Given the description of an element on the screen output the (x, y) to click on. 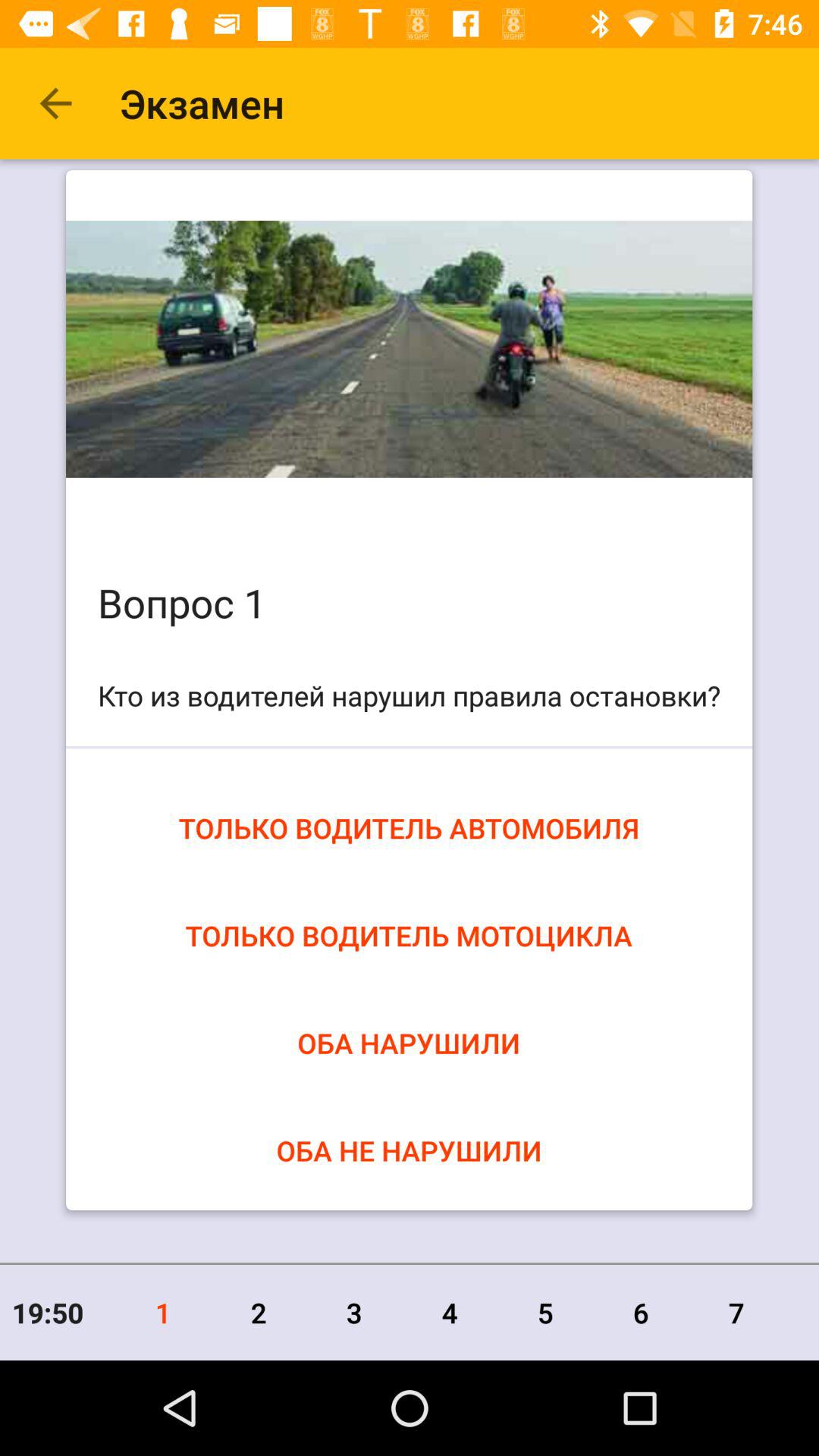
click the item to the right of the 7 (801, 1312)
